Given the description of an element on the screen output the (x, y) to click on. 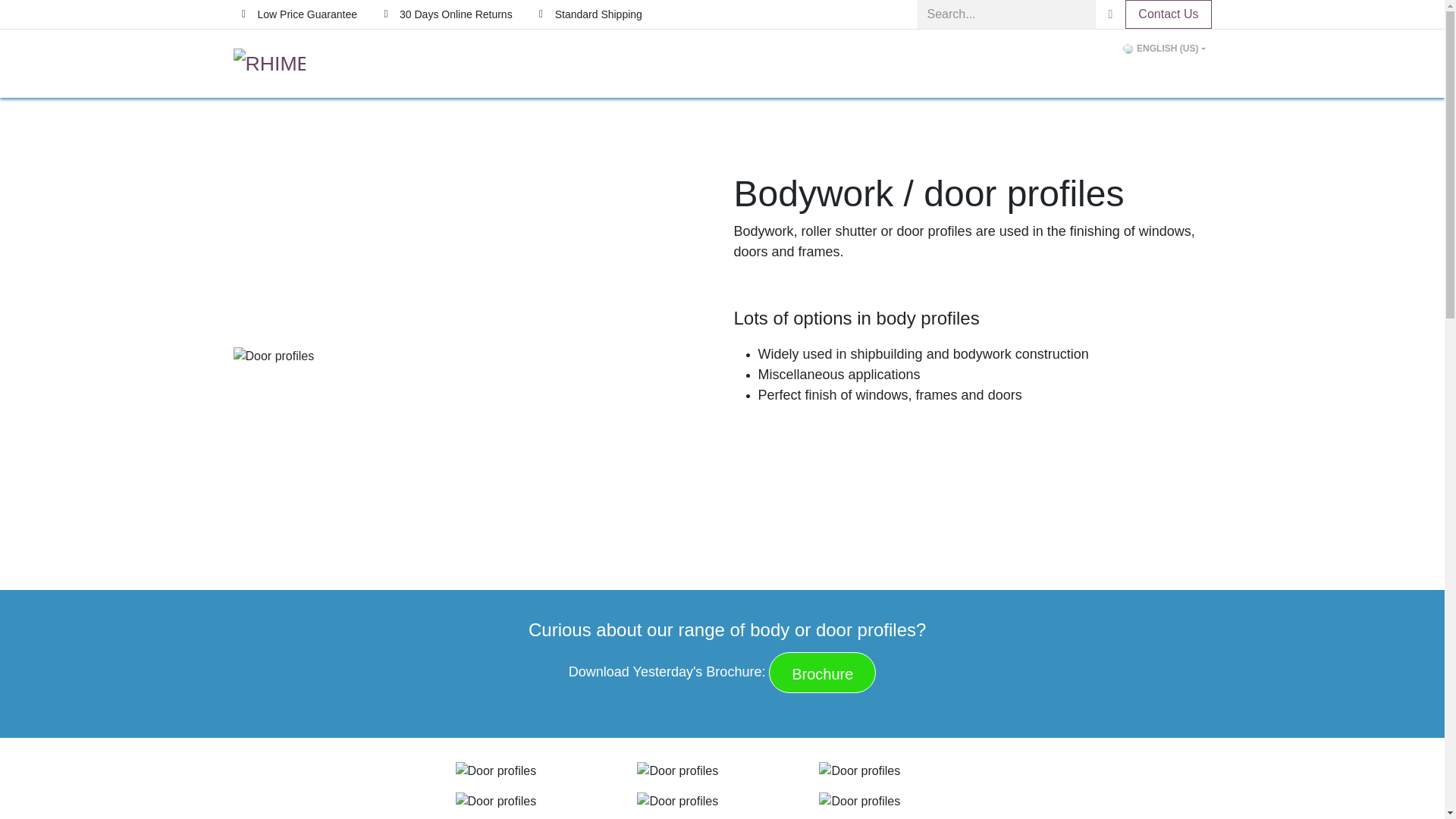
Contact Us (1168, 14)
Door profiles (471, 356)
Door profiles (539, 771)
RHIMEX.com (268, 63)
Search (1110, 14)
Door profiles (539, 801)
